Given the description of an element on the screen output the (x, y) to click on. 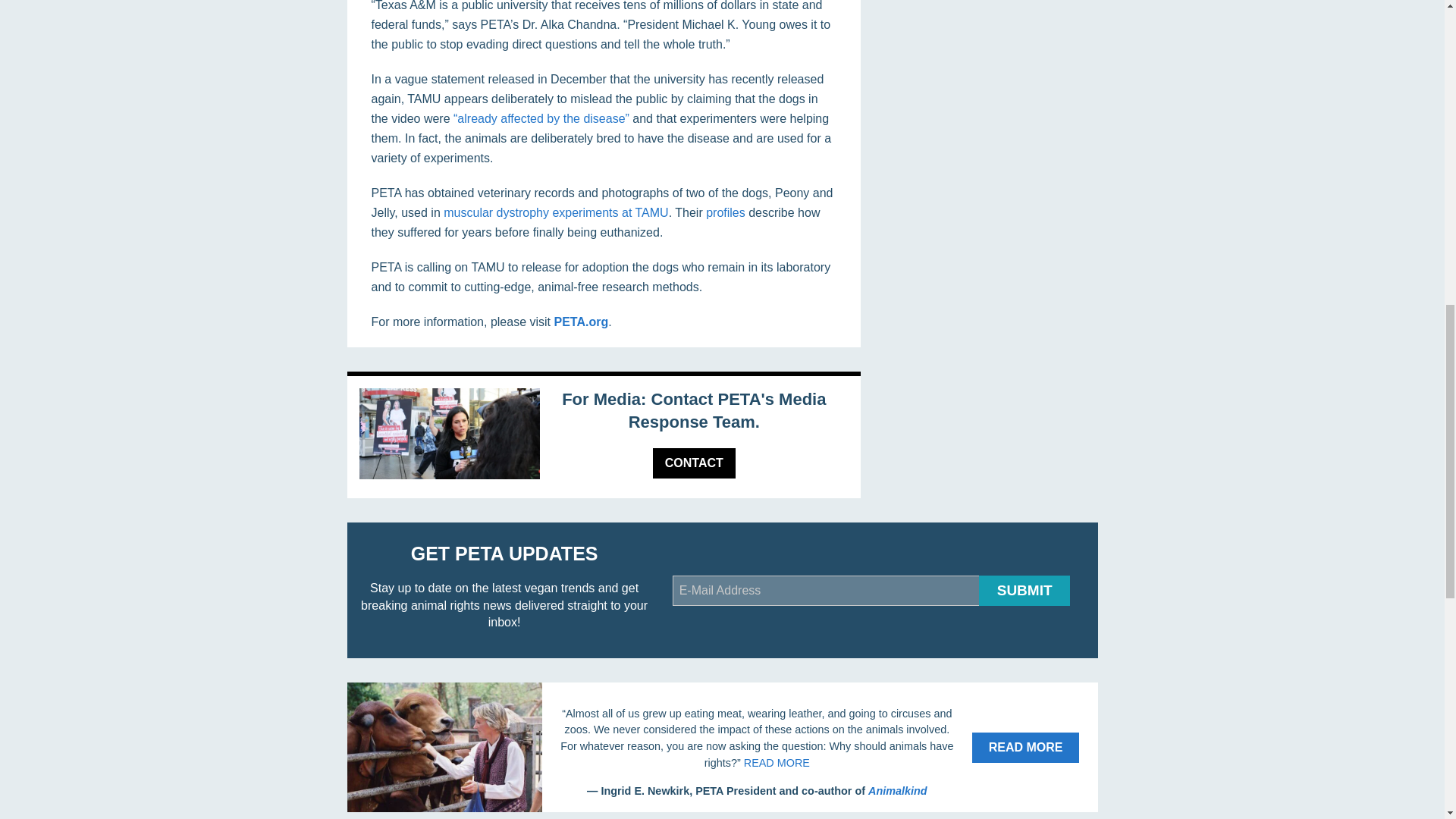
Submit (1024, 590)
